Given the description of an element on the screen output the (x, y) to click on. 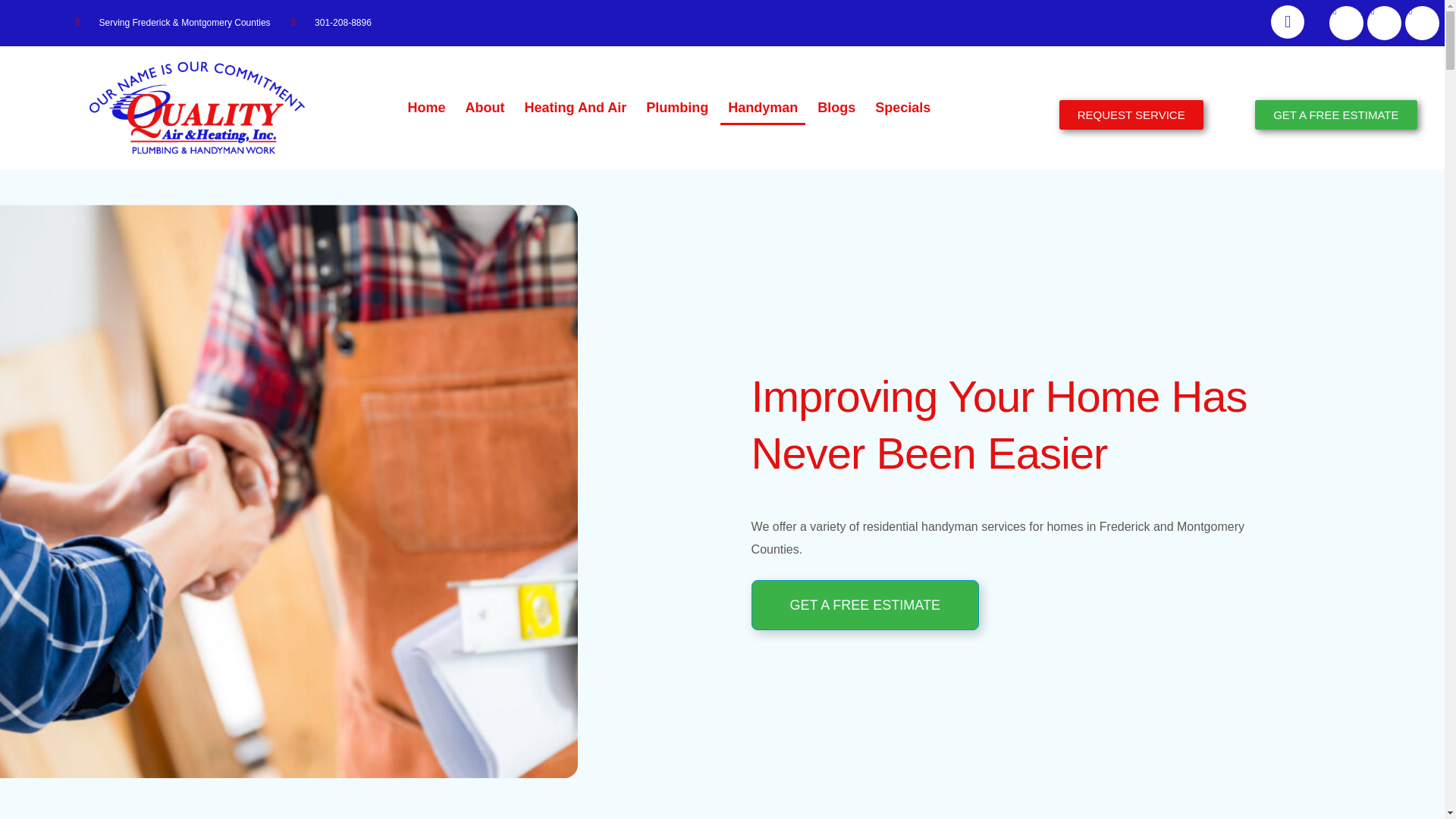
GET A FREE ESTIMATE (1335, 114)
Plumbing (677, 107)
Blogs (836, 107)
REQUEST SERVICE (1131, 114)
Handyman (762, 107)
Specials (902, 107)
Home (426, 107)
GET A FREE ESTIMATE (864, 604)
About (485, 107)
Heating And Air (575, 107)
